Given the description of an element on the screen output the (x, y) to click on. 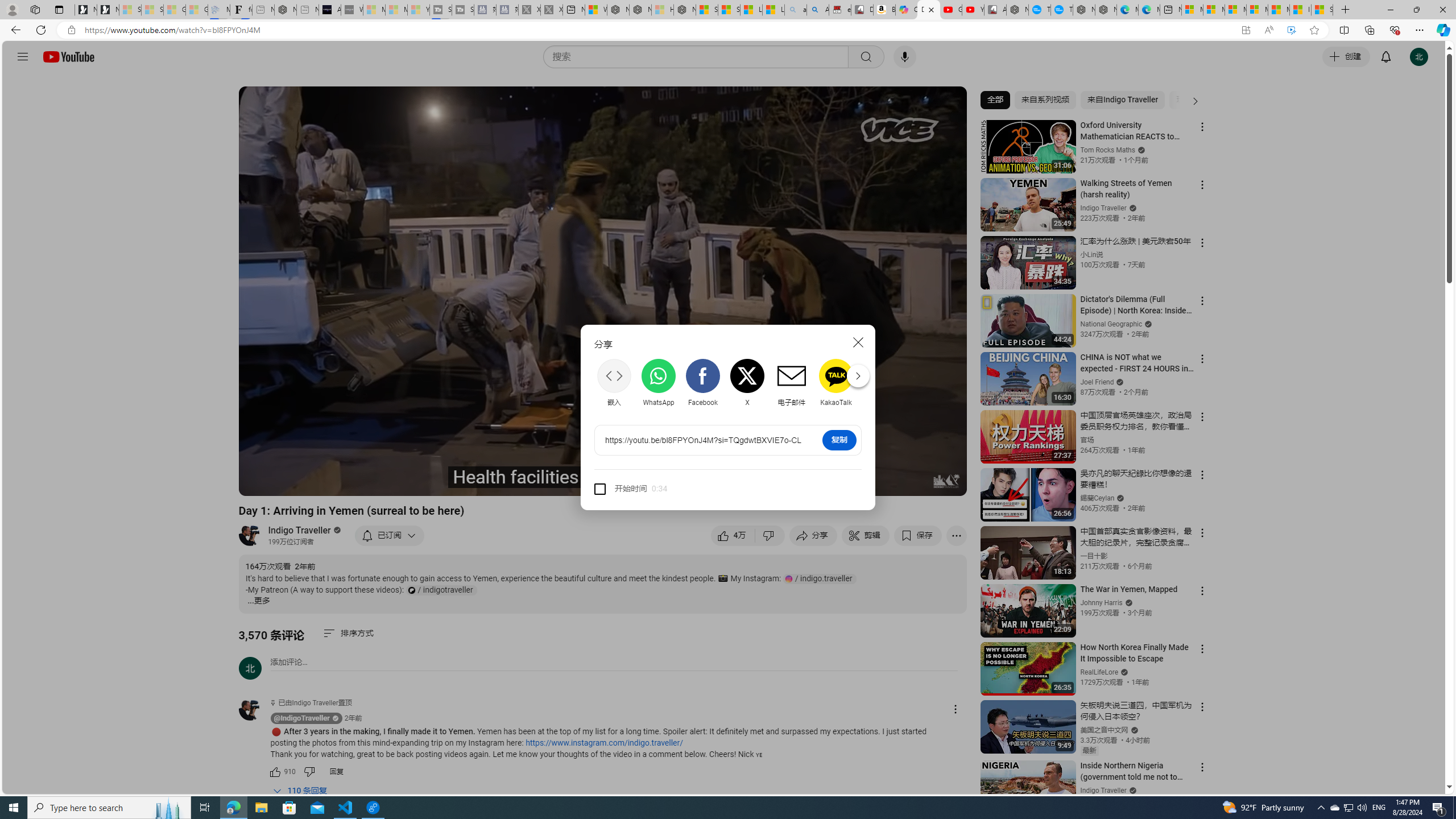
The most popular Google 'how to' searches (1061, 9)
YouTube Kids - An App Created for Kids to Explore Content (972, 9)
Enhance video (1291, 29)
